Given the description of an element on the screen output the (x, y) to click on. 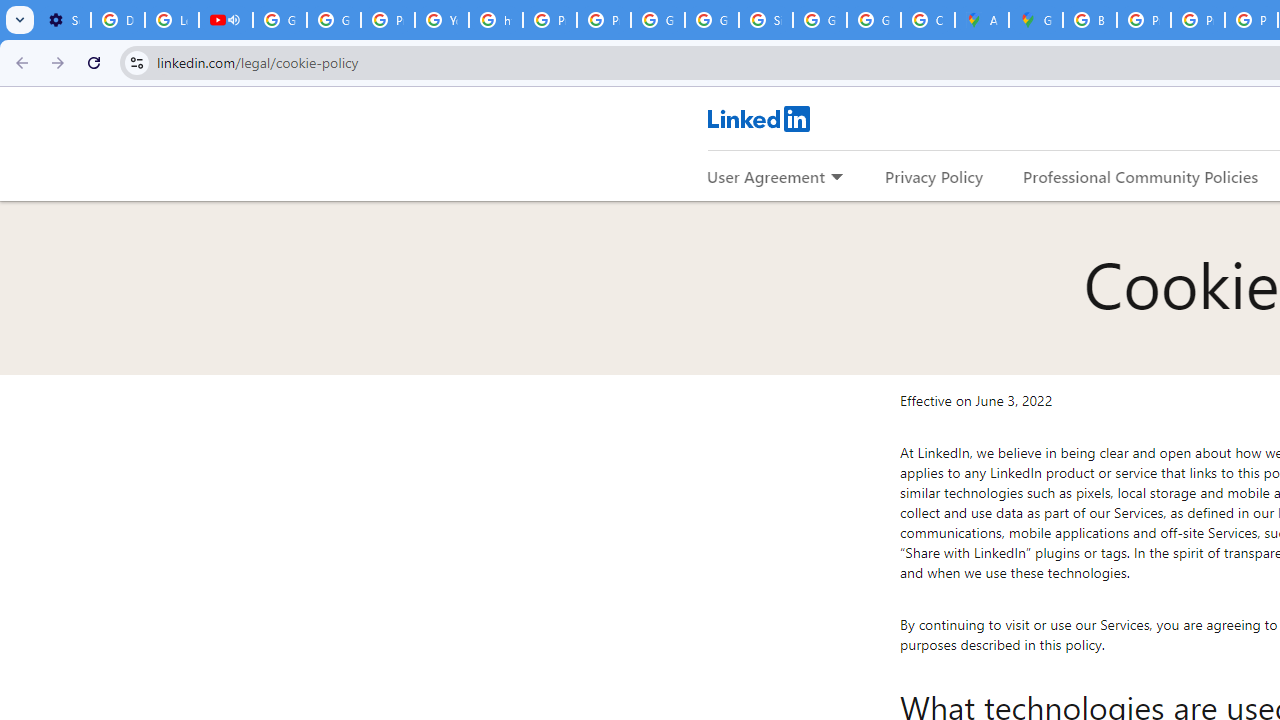
YouTube (441, 20)
https://scholar.google.com/ (495, 20)
Google Account Help (333, 20)
Learn how to find your photos - Google Photos Help (171, 20)
Privacy Help Center - Policies Help (1197, 20)
Privacy Help Center - Policies Help (550, 20)
Google Account Help (280, 20)
Mute tab (233, 20)
Delete photos & videos - Computer - Google Photos Help (117, 20)
